Given the description of an element on the screen output the (x, y) to click on. 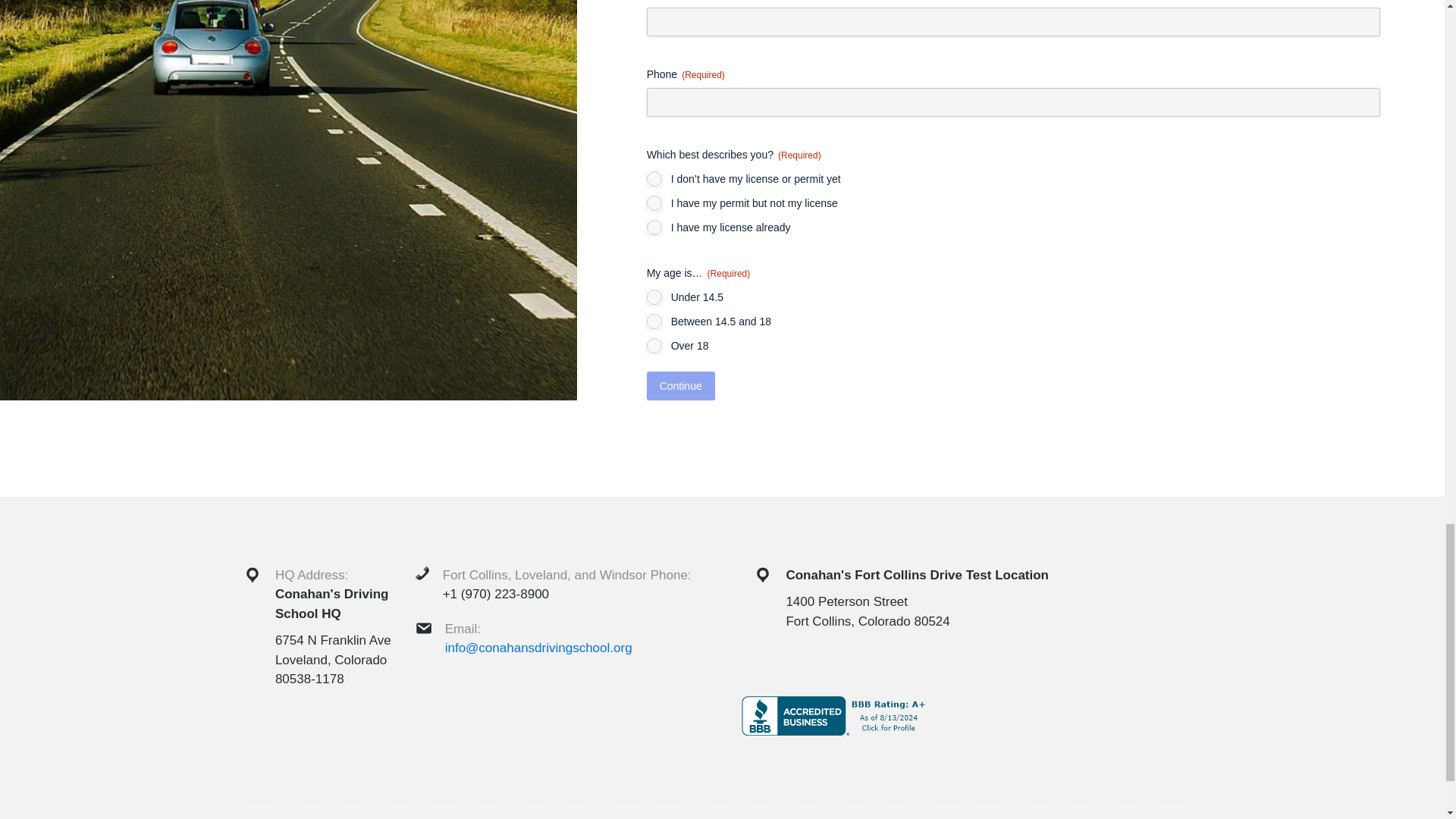
Between 14.5 and 18 (654, 321)
Over 18 (654, 345)
I have my permit but not my license (654, 202)
Continue (680, 385)
I have my license already (654, 227)
Under 14.5 (654, 296)
I don't have my license or permit yet (654, 178)
Continue (680, 385)
